Given the description of an element on the screen output the (x, y) to click on. 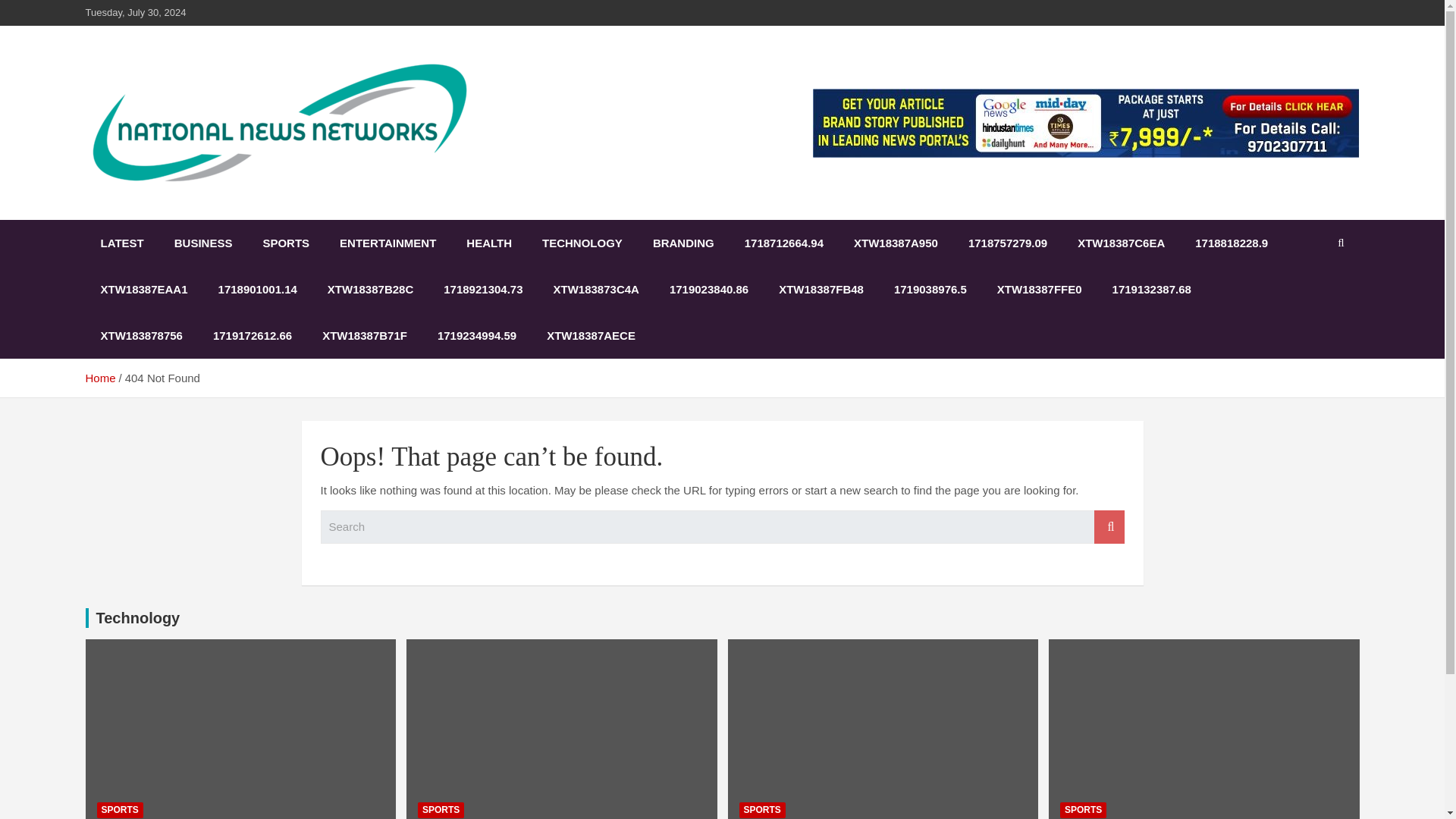
SPORTS (119, 810)
XTW18387EAA1 (143, 289)
1719023840.86 (707, 289)
BUSINESS (202, 243)
XTW18387FB48 (820, 289)
1719172612.66 (252, 335)
LATEST (121, 243)
1719234994.59 (476, 335)
XTW18387B28C (370, 289)
Home (99, 377)
XTW18387AECE (590, 335)
ENTERTAINMENT (387, 243)
1718712664.94 (783, 243)
XTW18387B71F (364, 335)
1718818228.9 (1230, 243)
